Given the description of an element on the screen output the (x, y) to click on. 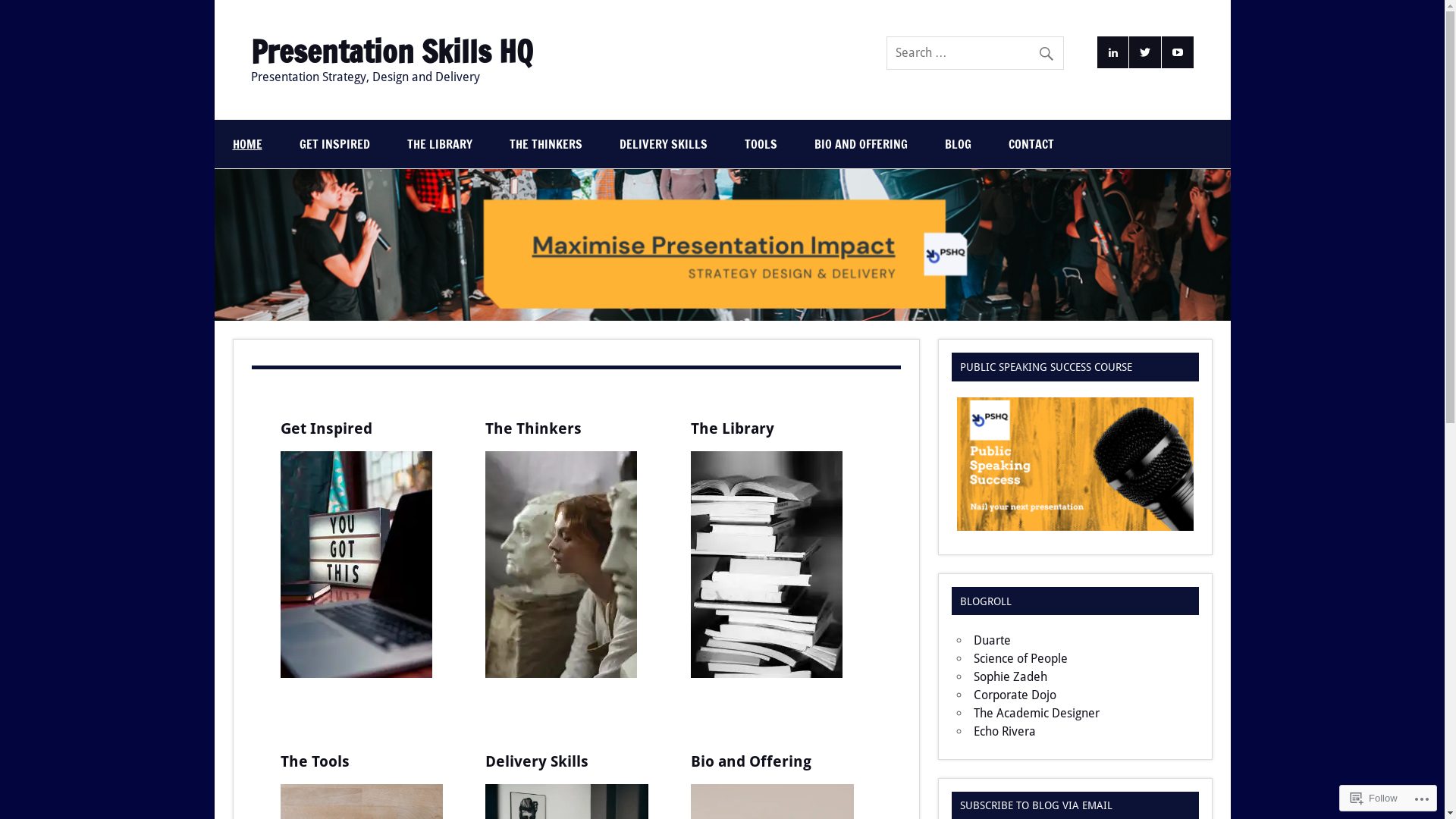
Corporate Dojo Element type: text (1014, 694)
The Thinkers Element type: text (533, 428)
DELIVERY SKILLS Element type: text (662, 143)
Duarte Element type: text (991, 640)
BIO AND OFFERING Element type: text (860, 143)
Get Inspired Element type: text (326, 428)
Presentation Skills HQ Element type: text (391, 51)
BLOG Element type: text (957, 143)
The Library Element type: text (732, 428)
TOOLS Element type: text (760, 143)
THE THINKERS Element type: text (545, 143)
Follow Element type: text (1373, 797)
HOME Element type: text (246, 143)
Bio and Offering Element type: text (750, 761)
GET INSPIRED Element type: text (333, 143)
CONTACT Element type: text (1031, 143)
Science of People Element type: text (1020, 658)
Echo Rivera Element type: text (1004, 731)
THE LIBRARY Element type: text (438, 143)
The Tools Element type: text (314, 761)
The Academic Designer Element type: text (1036, 713)
Delivery Skills Element type: text (536, 761)
Sophie Zadeh Element type: text (1010, 676)
